Given the description of an element on the screen output the (x, y) to click on. 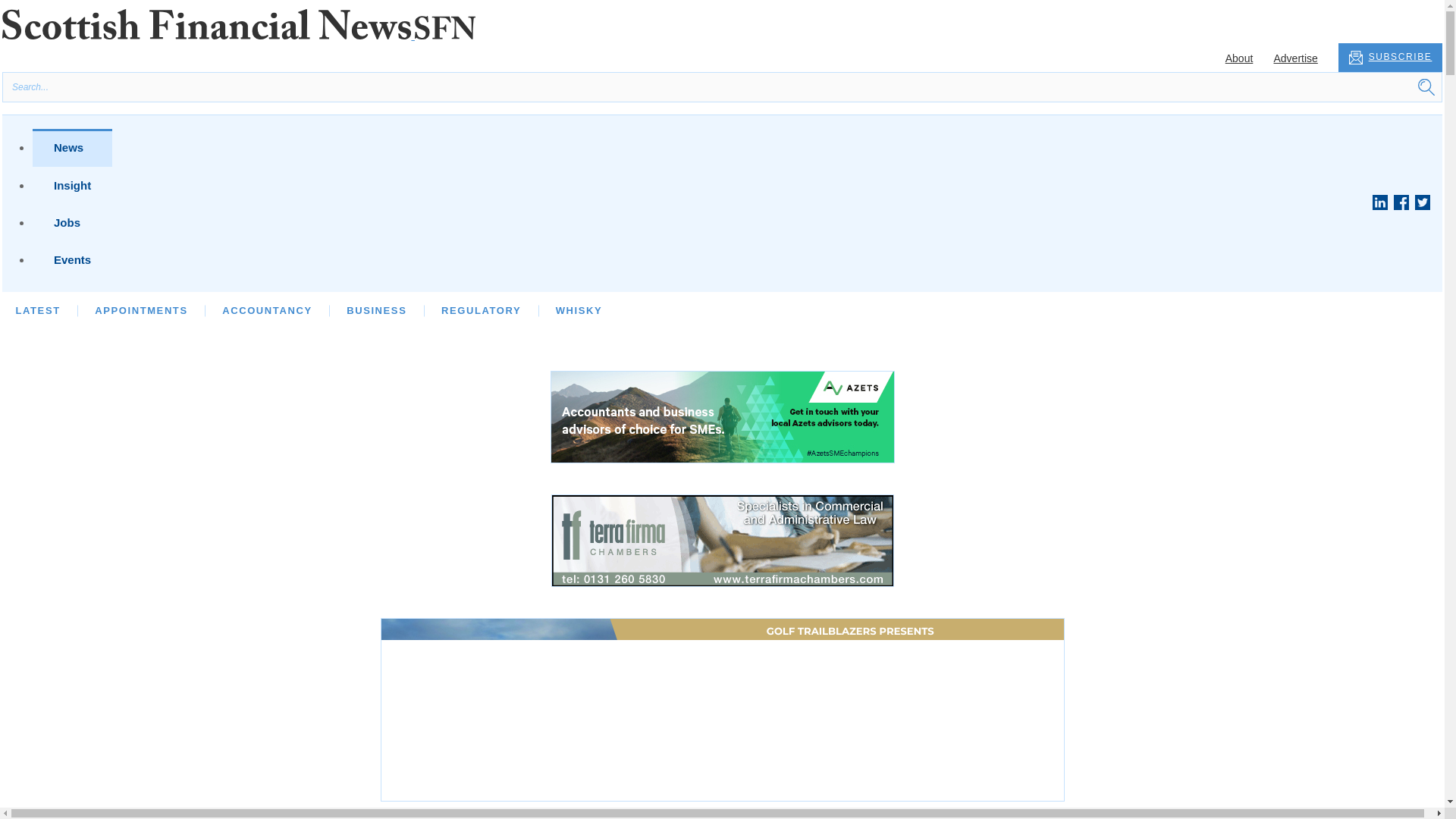
Events (72, 259)
SUBSCRIBE (1390, 57)
ACCOUNTANCY (266, 310)
BUSINESS (376, 310)
OPINION (119, 310)
APPOINTMENTS (140, 310)
WHISKY (579, 310)
REGULATORY (481, 310)
LATEST (36, 310)
News (72, 147)
Advertise (1295, 58)
About (1239, 58)
INTERVIEWS (216, 310)
Jobs (72, 221)
Insight (72, 185)
